Given the description of an element on the screen output the (x, y) to click on. 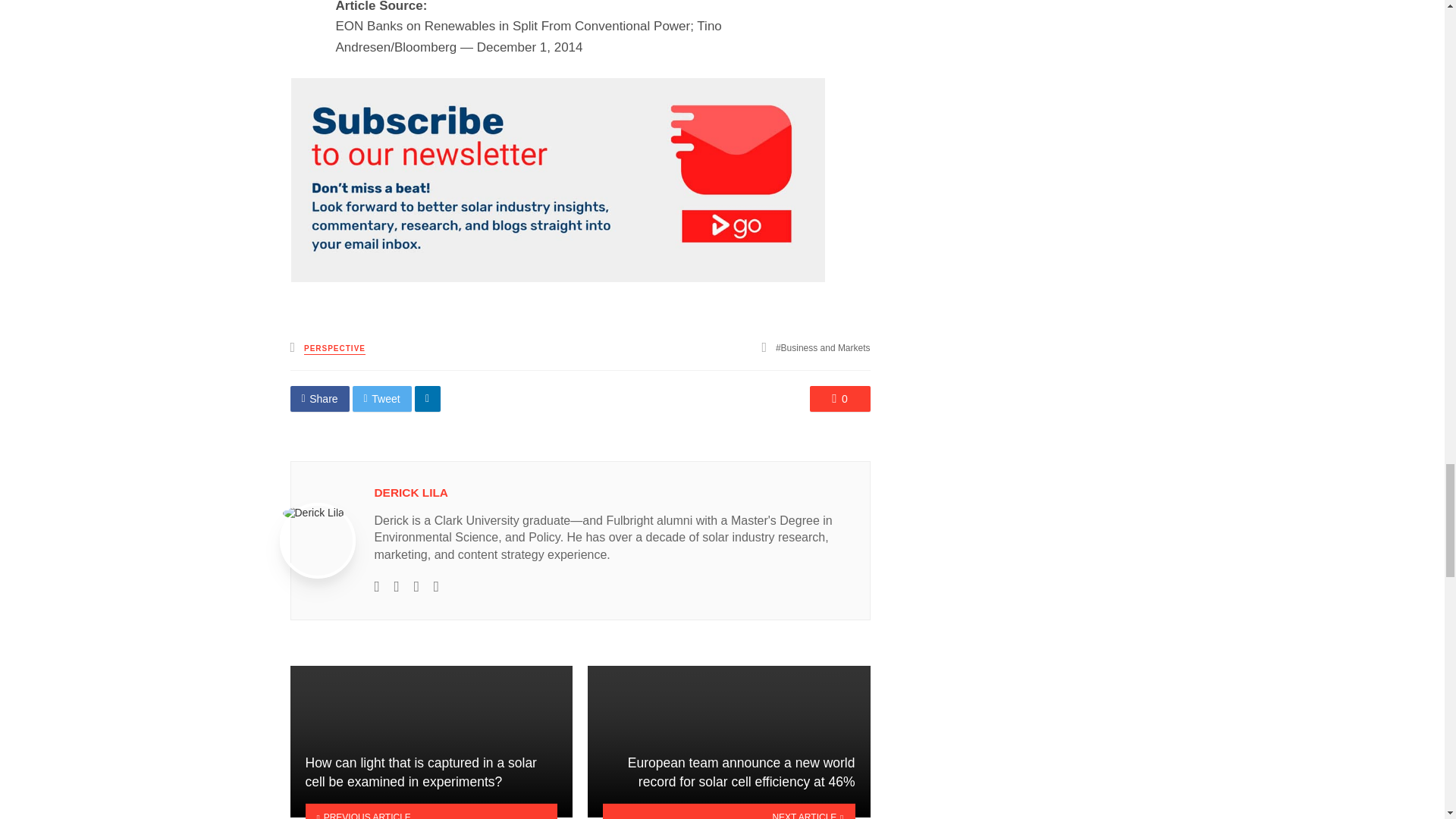
Share on Facebook (319, 398)
Posts by Derick Lila (411, 492)
Share on Linkedin (427, 398)
0 Comments (839, 398)
Share on Twitter (382, 398)
